Given the description of an element on the screen output the (x, y) to click on. 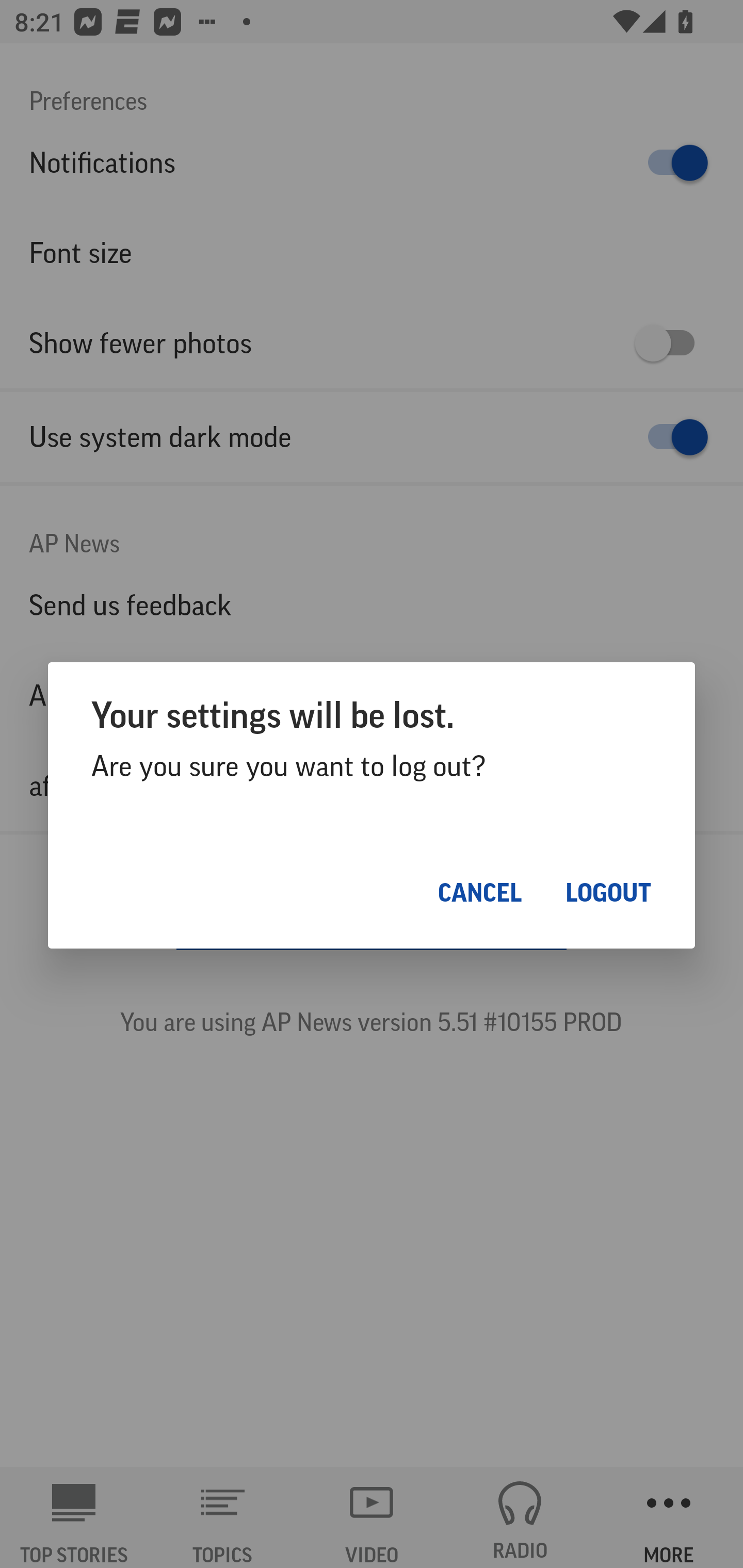
CANCEL (479, 891)
LOGOUT (608, 891)
